Given the description of an element on the screen output the (x, y) to click on. 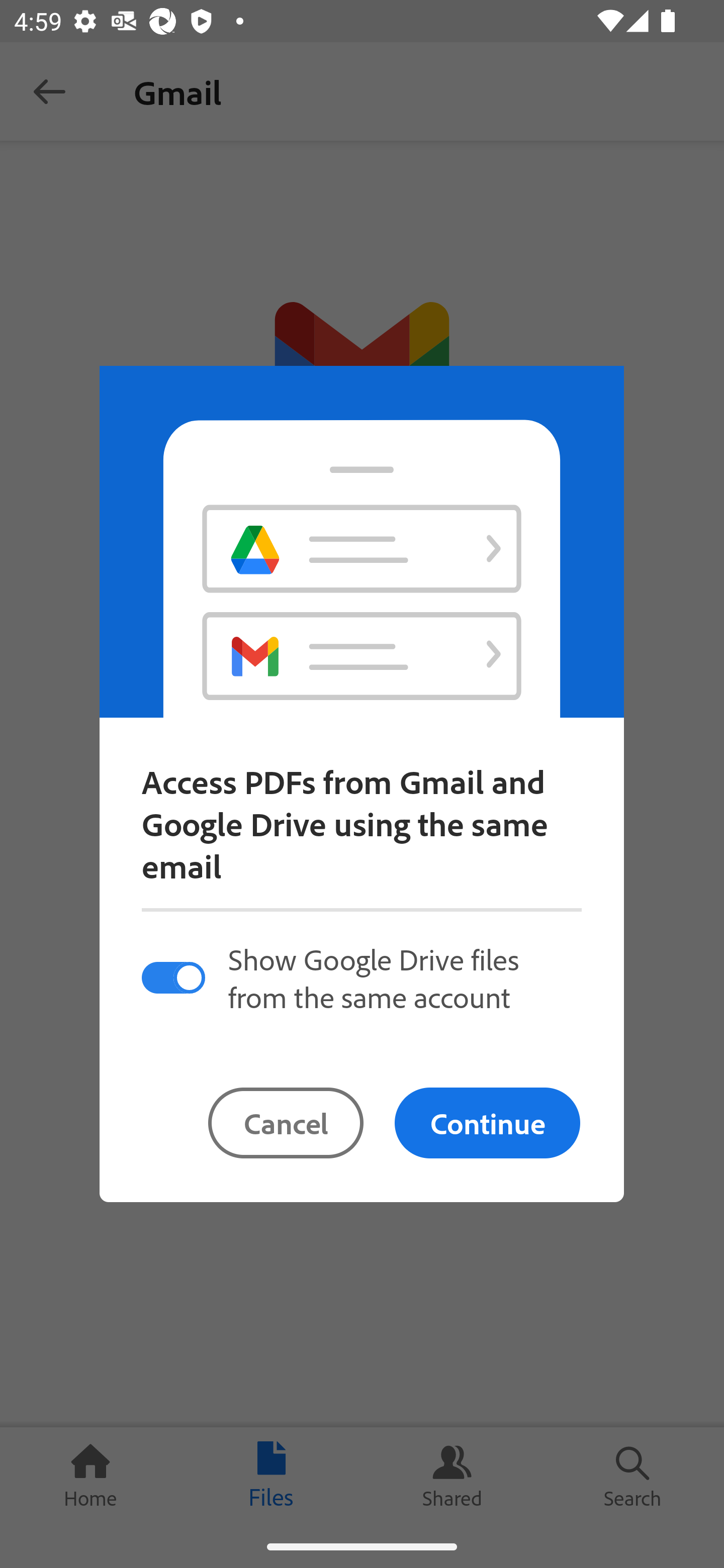
Show Google Drive files from the same account (361, 977)
Cancel (285, 1123)
Continue (487, 1123)
